Given the description of an element on the screen output the (x, y) to click on. 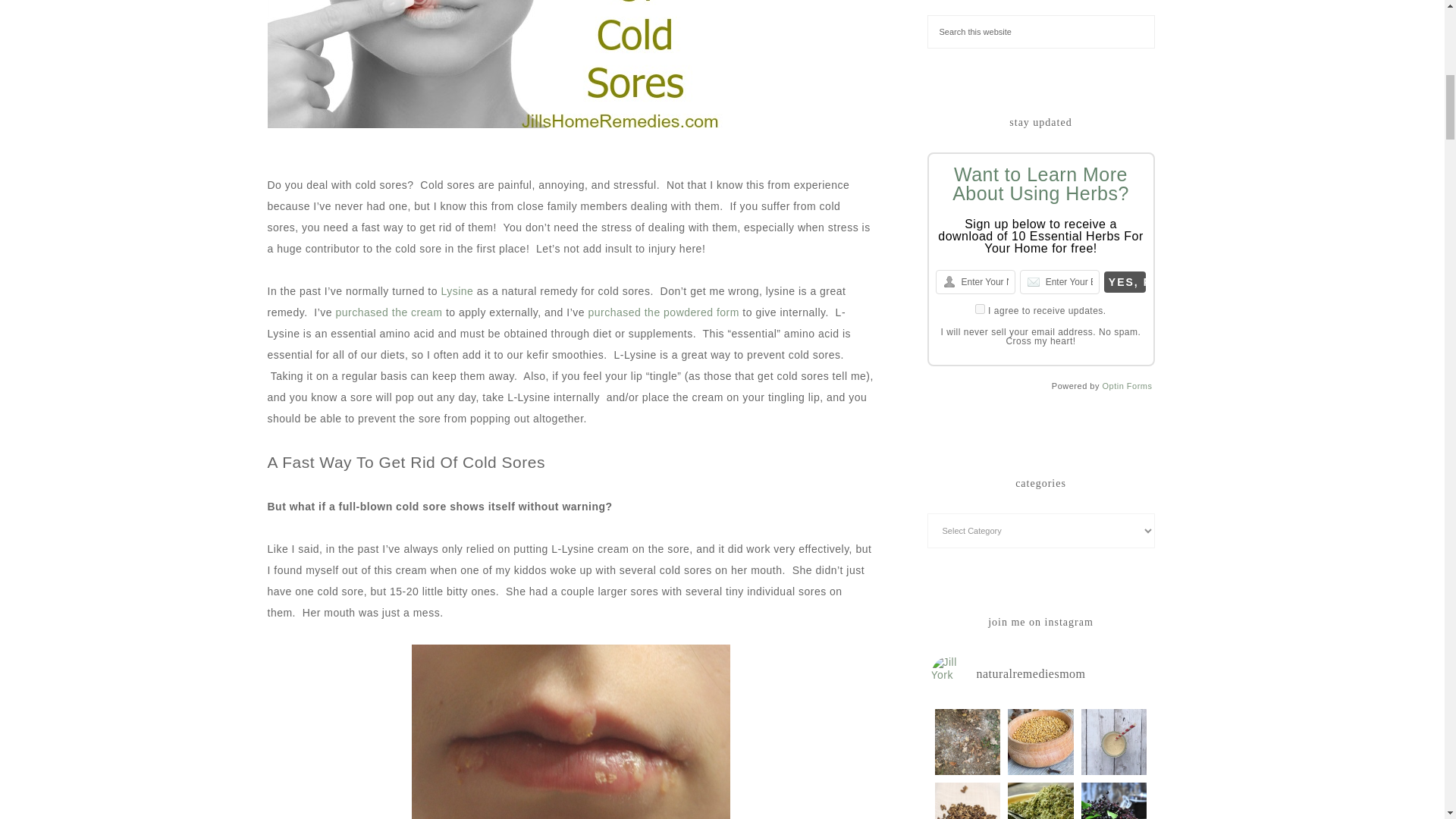
on (980, 308)
purchased the cream (388, 312)
Yes, Please! (1125, 281)
Lysine (457, 291)
purchased the powdered form (662, 312)
